Given the description of an element on the screen output the (x, y) to click on. 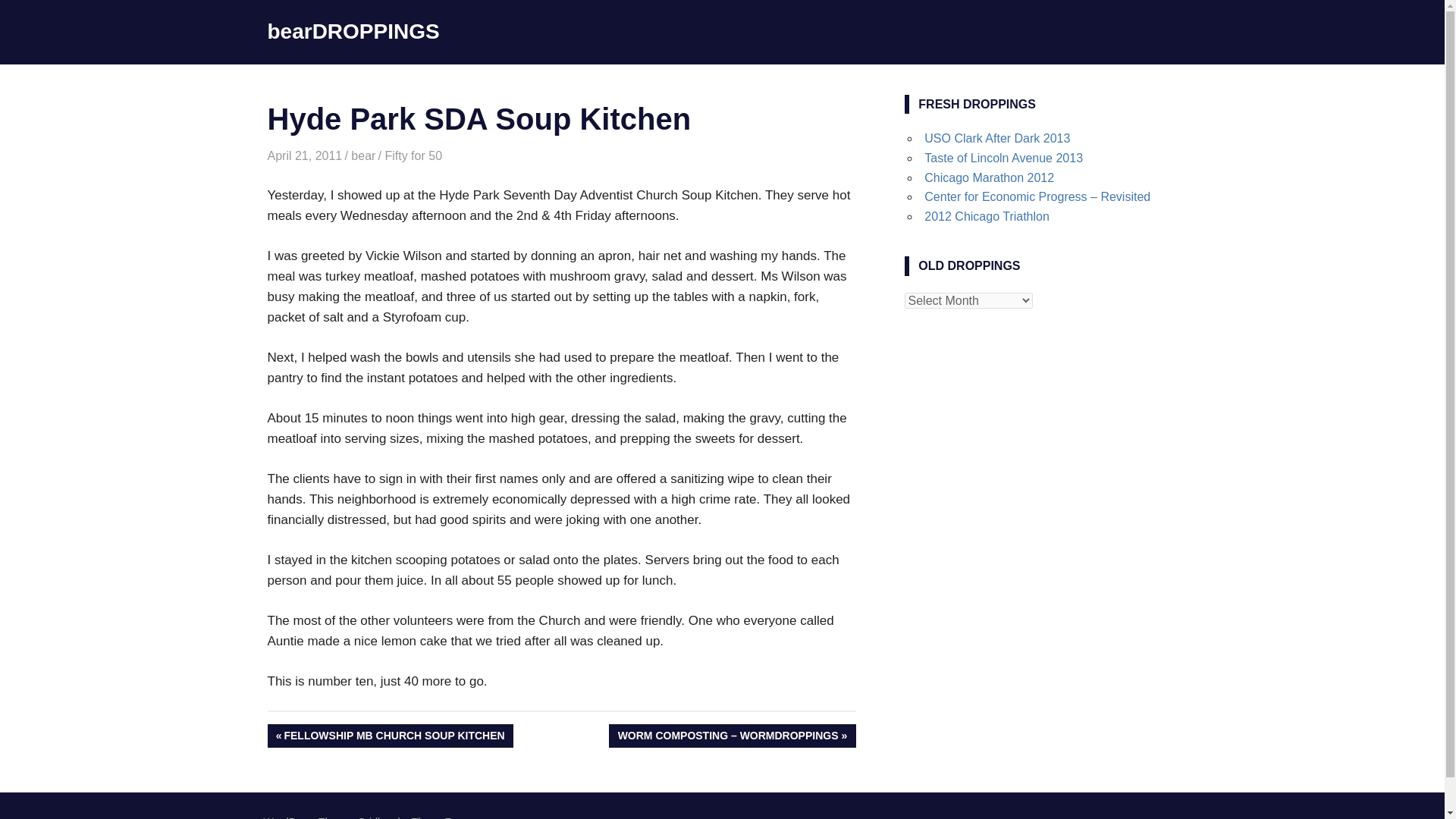
Fifty for 50 (413, 155)
Chicago Marathon 2012 (989, 177)
2012 Chicago Triathlon (986, 215)
bear (362, 155)
Taste of Lincoln Avenue 2013 (1003, 157)
bearDROPPINGS (352, 31)
April 21, 2011 (304, 155)
11:01 pm (304, 155)
USO Clark After Dark 2013 (997, 137)
